Given the description of an element on the screen output the (x, y) to click on. 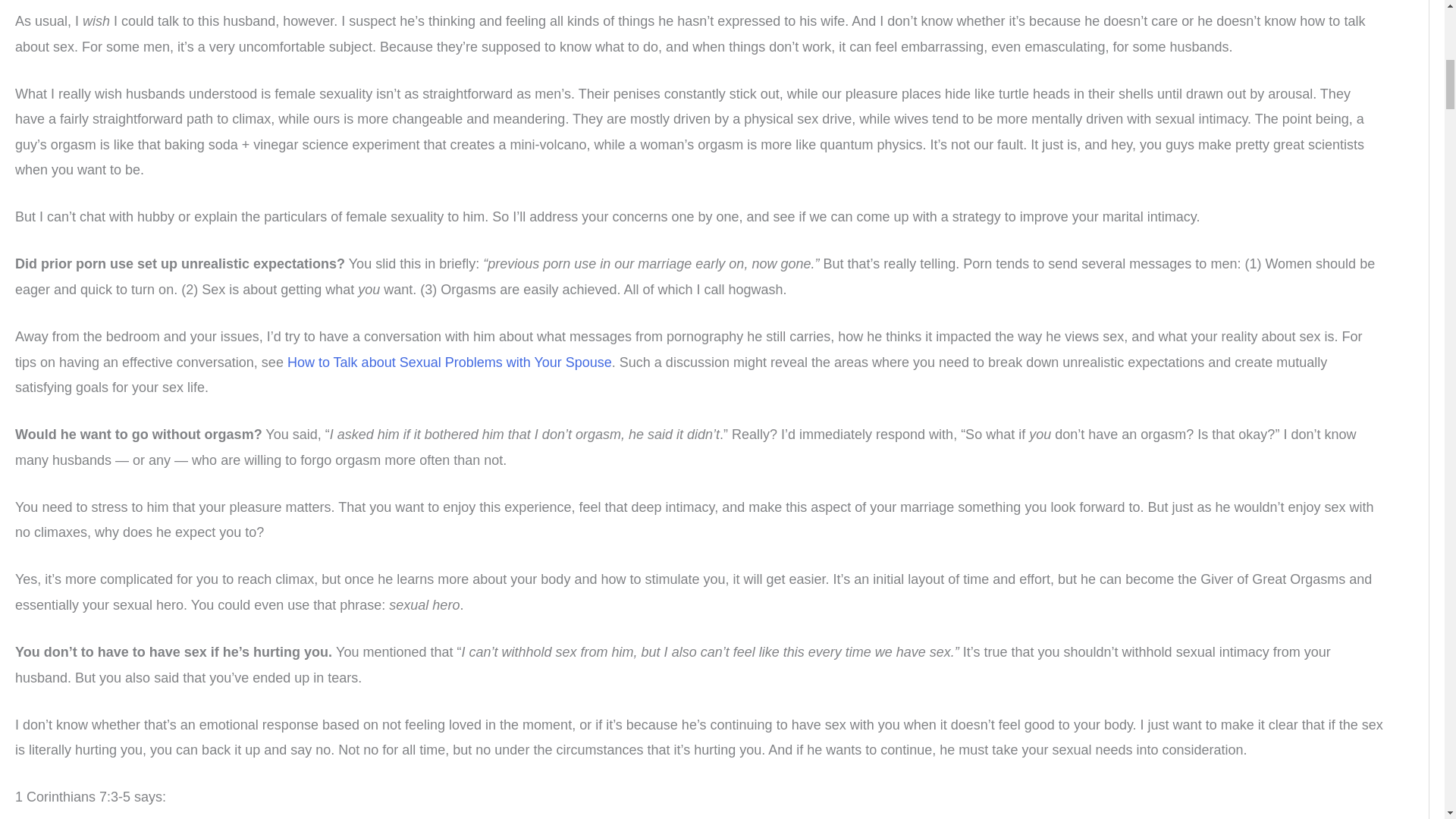
How to Talk about Sexual Problems with Your Spouse (448, 362)
